Given the description of an element on the screen output the (x, y) to click on. 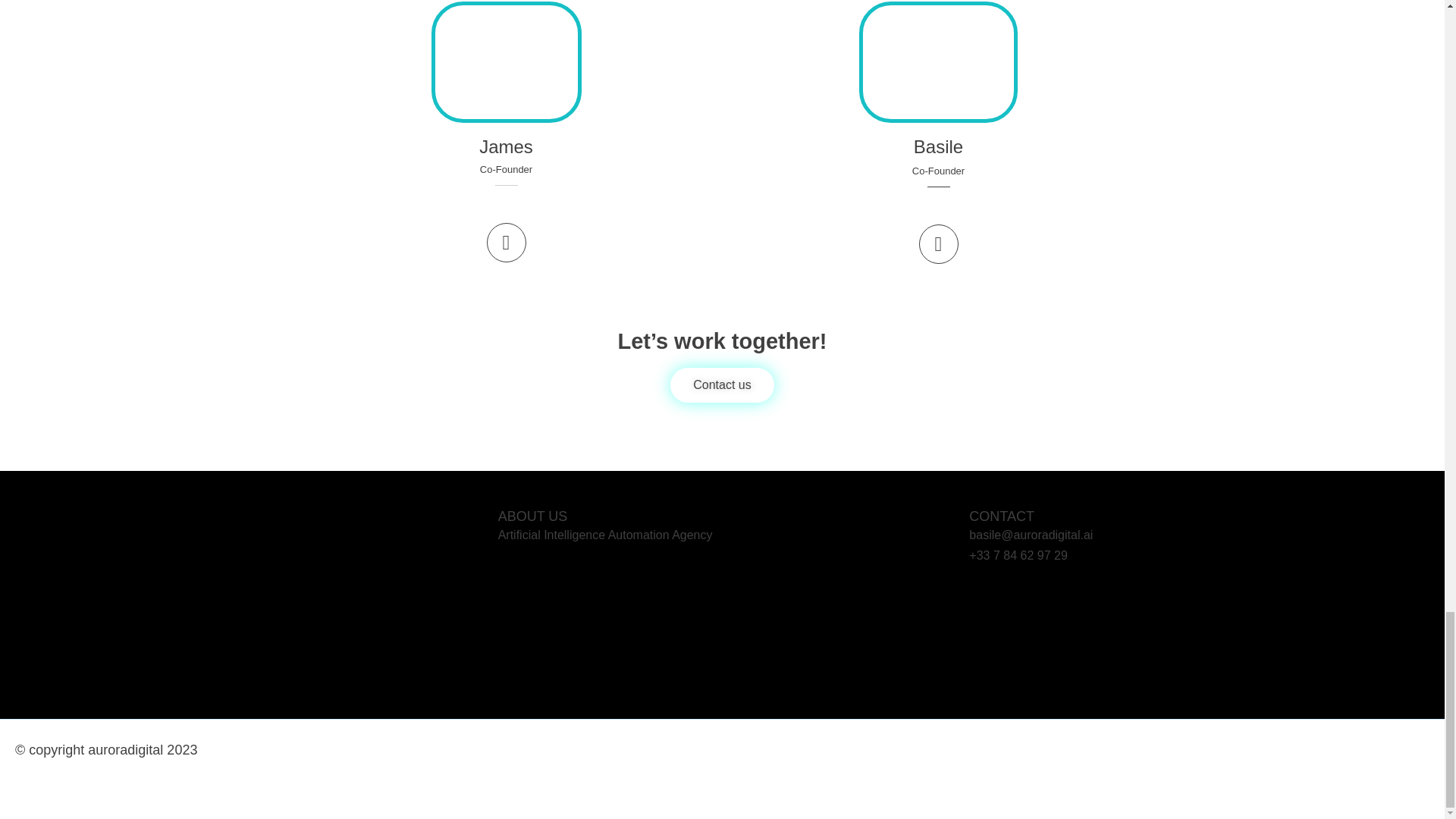
Contact us (721, 384)
